Given the description of an element on the screen output the (x, y) to click on. 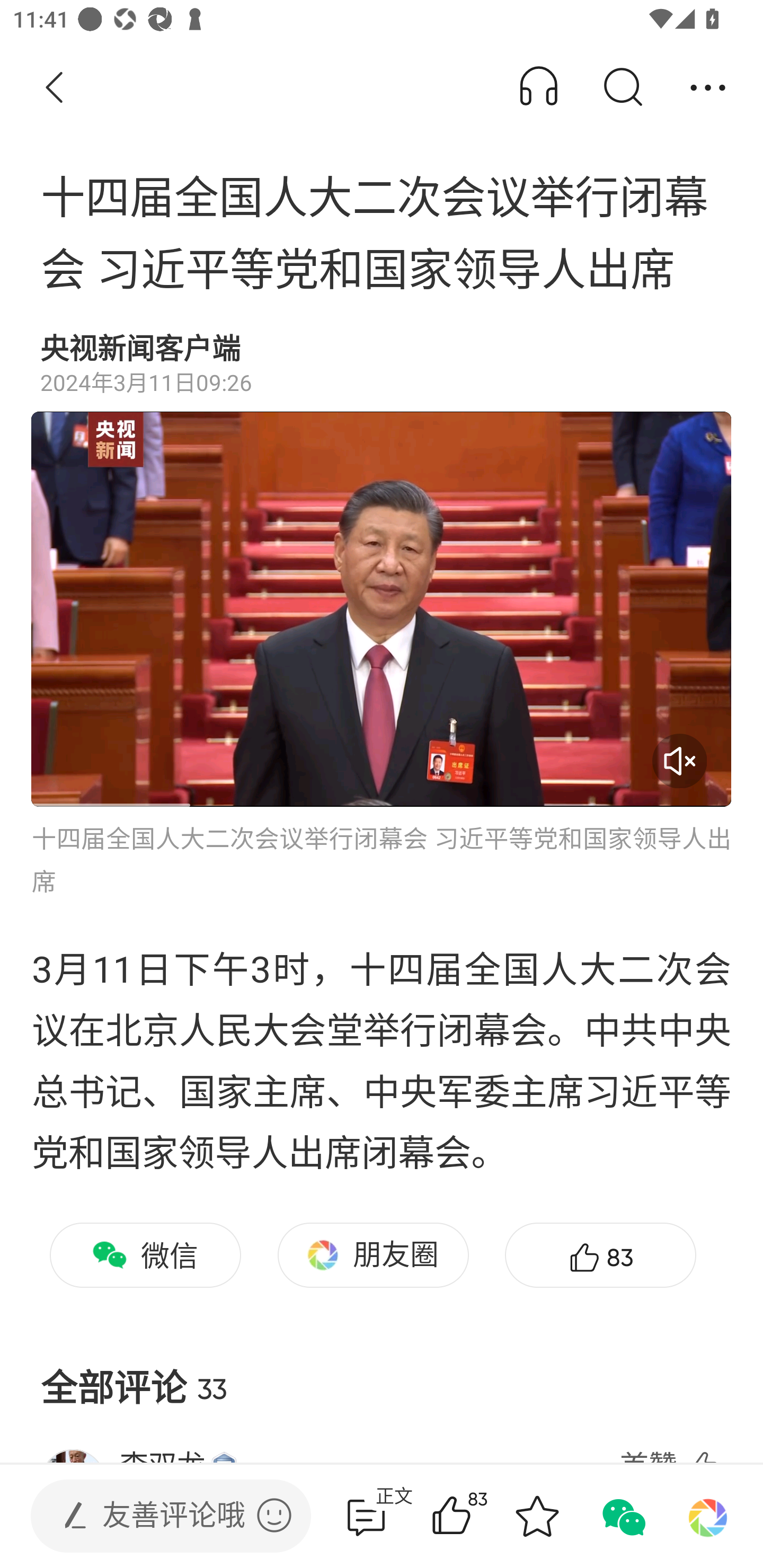
搜索  (622, 87)
分享  (707, 87)
 返回 (54, 87)
央视新闻客户端 2024年3月11日09:26 (381, 364)
00:47 (381, 608)
音量开关 (679, 760)
微信 分享到微信 (145, 1255)
朋友圈 分享到朋友圈 (373, 1255)
83赞 (600, 1255)
全部评论 33 (381, 1373)
发表评论  友善评论哦 发表评论  (155, 1516)
33评论  正文 正文 (365, 1516)
83赞 (476, 1516)
收藏  (536, 1516)
分享到微信  (622, 1516)
分享到朋友圈 (707, 1516)
 (274, 1515)
